Given the description of an element on the screen output the (x, y) to click on. 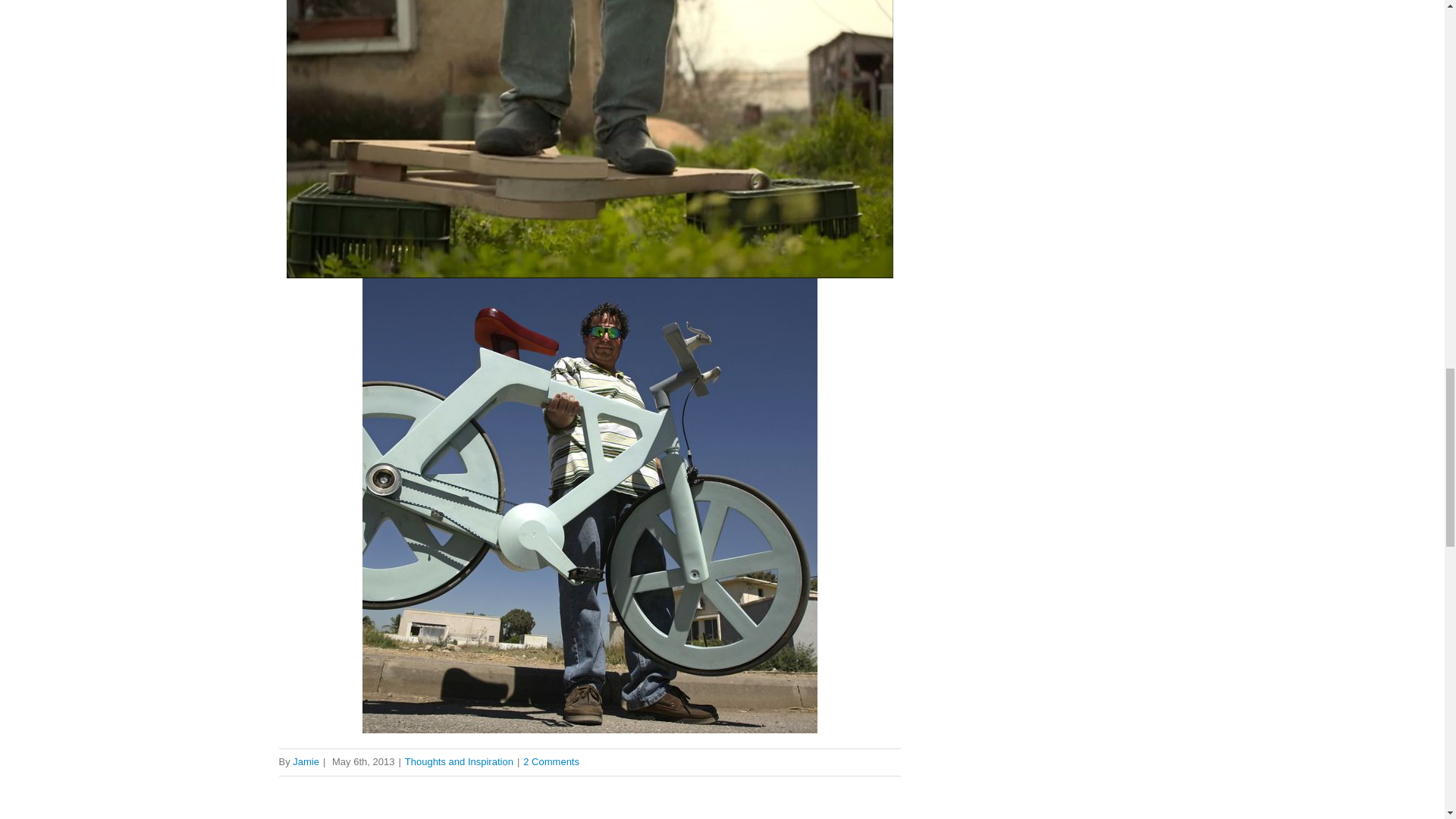
Posts by Jamie (305, 761)
Jamie (305, 761)
Thoughts and Inspiration (458, 761)
2 Comments (550, 761)
